Given the description of an element on the screen output the (x, y) to click on. 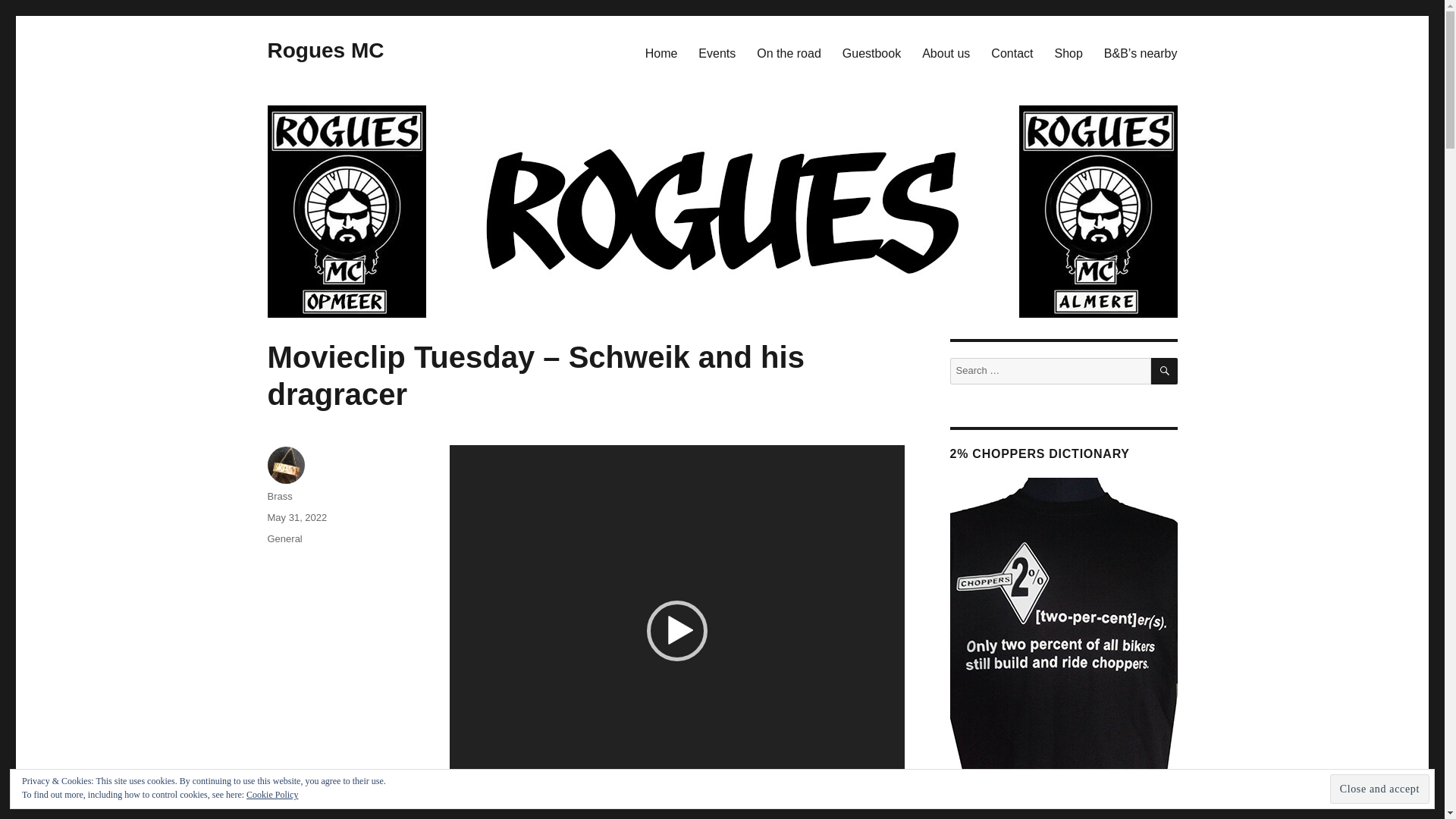
May 31, 2022 (296, 517)
Home (661, 52)
Rogues MC (325, 50)
General (283, 538)
Shop (1068, 52)
Mute (859, 801)
Brass (279, 496)
About us (945, 52)
Close and accept (1379, 788)
Fullscreen (883, 801)
